Given the description of an element on the screen output the (x, y) to click on. 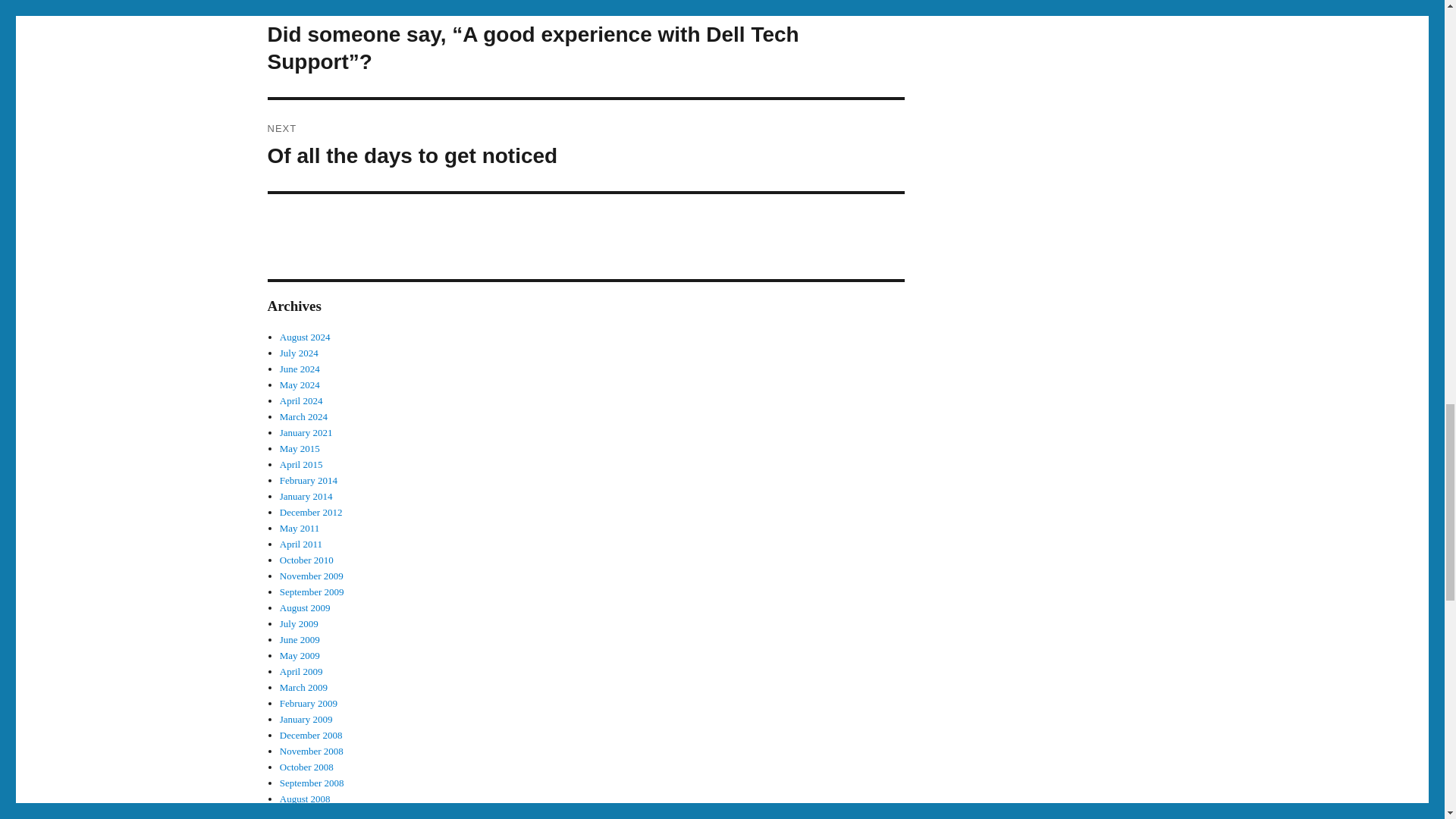
August 2009 (304, 607)
March 2024 (303, 416)
June 2024 (299, 368)
October 2010 (306, 559)
April 2011 (300, 543)
September 2009 (311, 591)
August 2024 (304, 337)
January 2009 (585, 144)
April 2015 (306, 718)
